Given the description of an element on the screen output the (x, y) to click on. 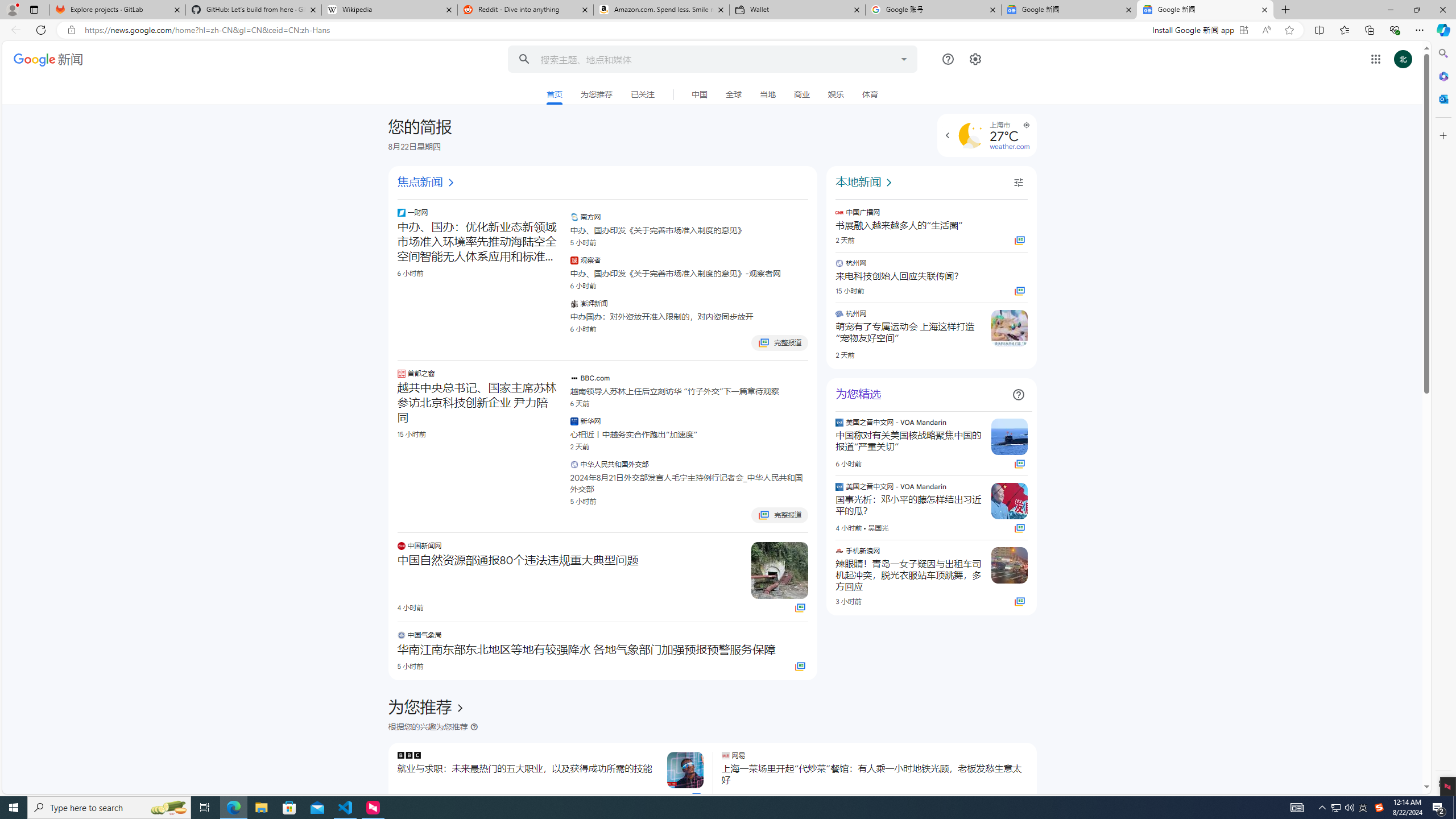
Class: ZmiOCf NMm5M (1018, 394)
Class: isawzf NMm5M (1018, 182)
